Given the description of an element on the screen output the (x, y) to click on. 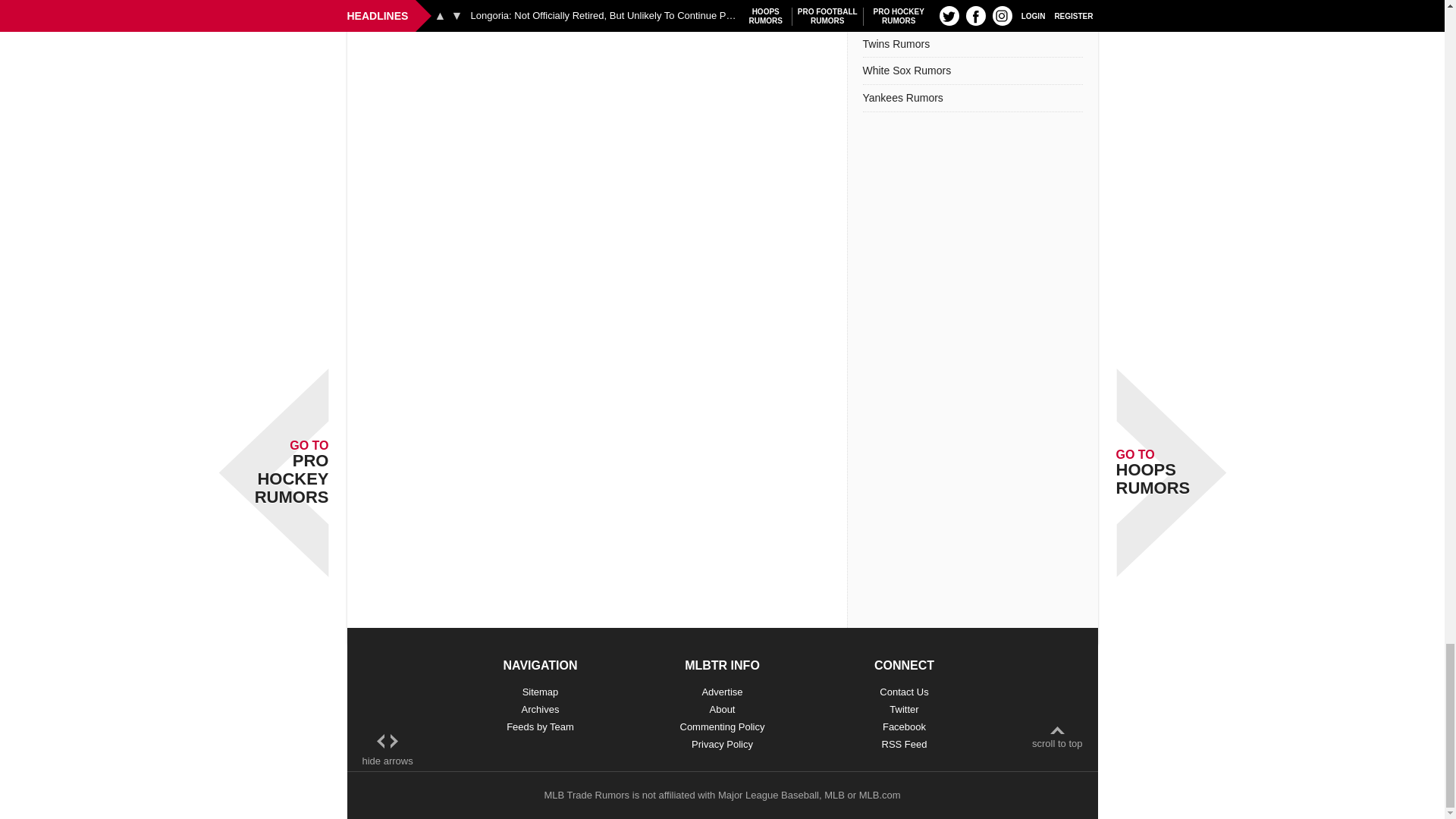
MLB Trade Rumors (585, 794)
